Given the description of an element on the screen output the (x, y) to click on. 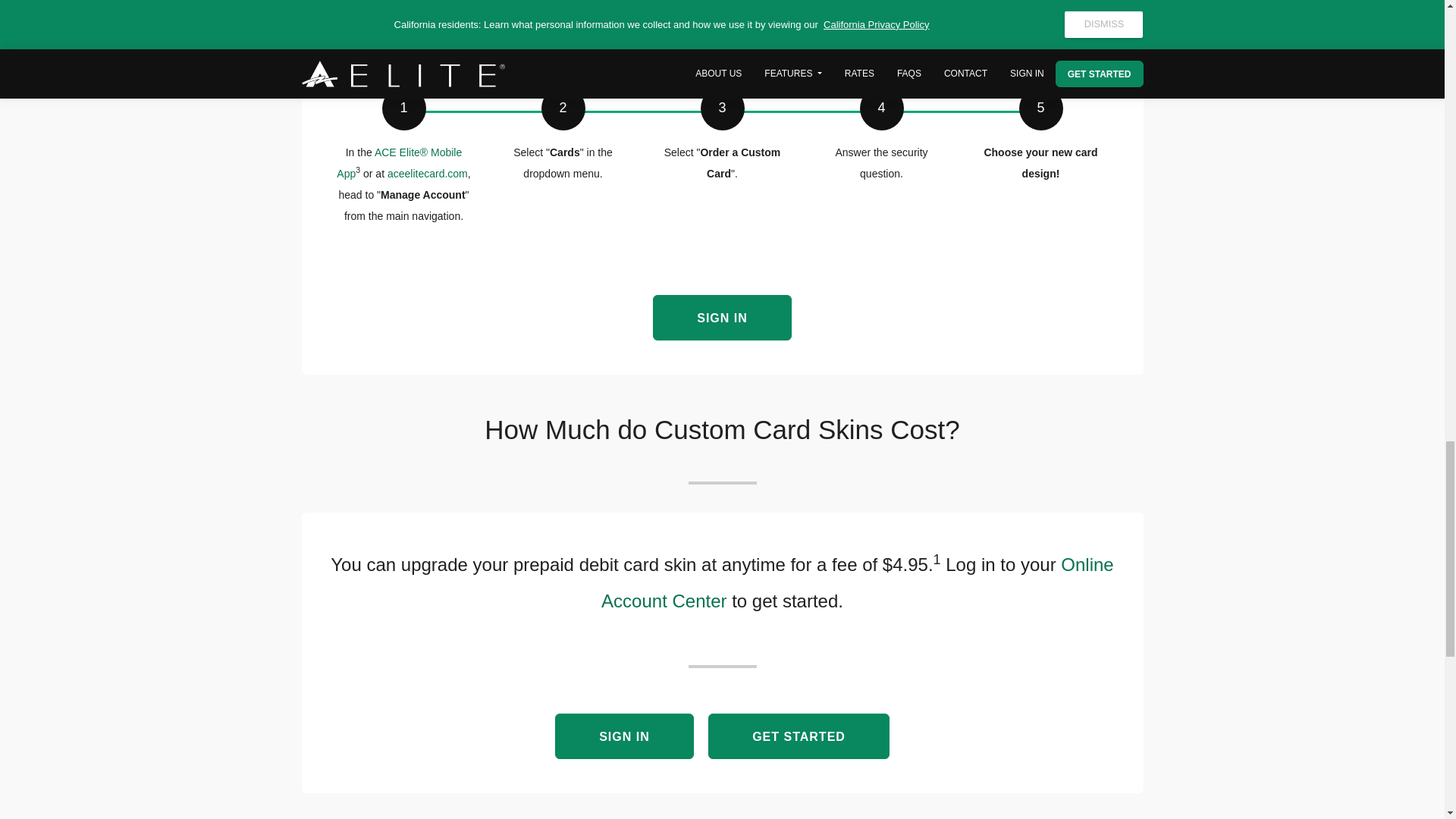
SIGN IN (624, 736)
aceelitecard.com (427, 173)
Online Account Center (857, 582)
GET STARTED (798, 736)
SIGN IN (722, 317)
